Given the description of an element on the screen output the (x, y) to click on. 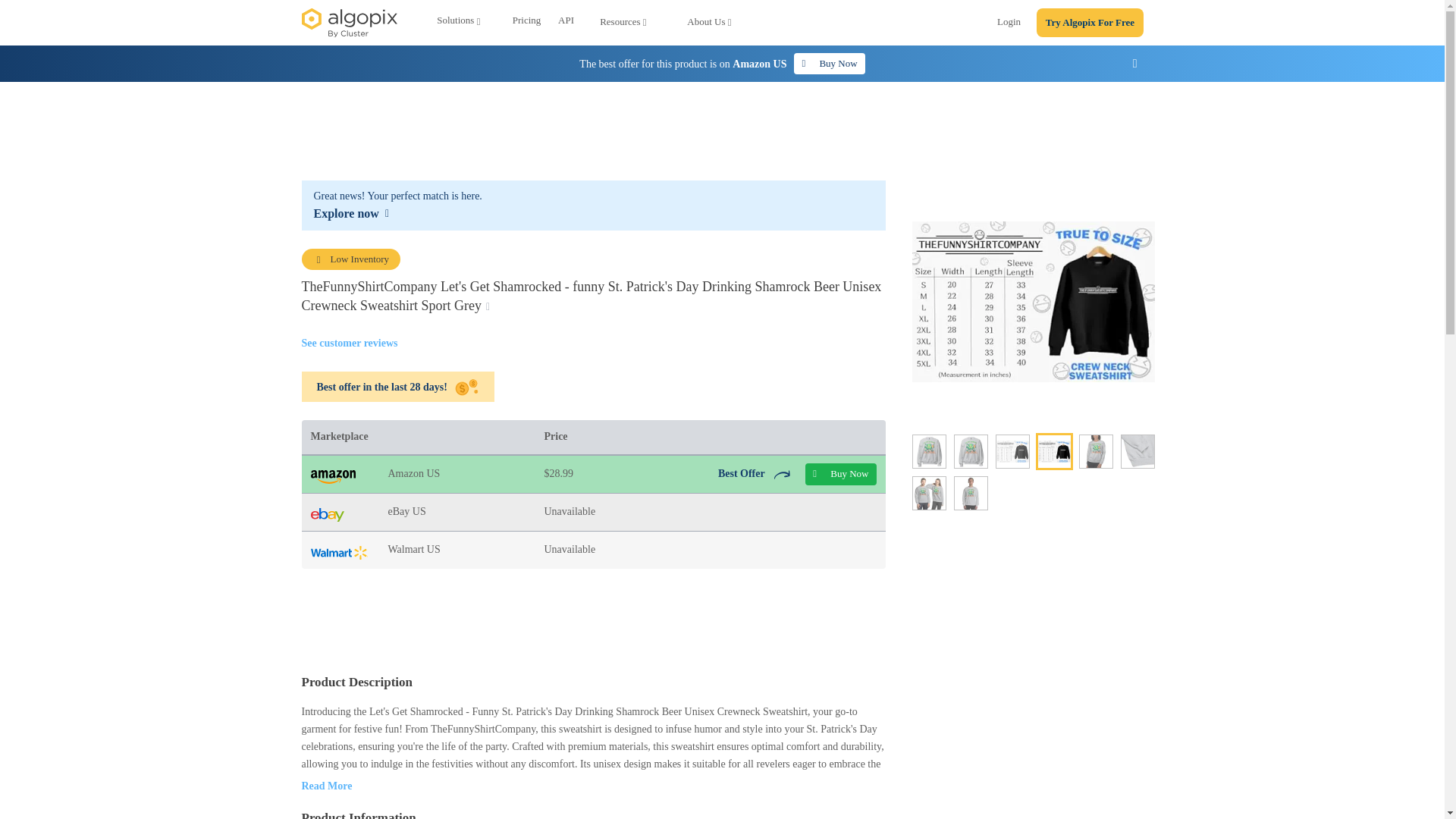
Advertisement (593, 621)
Buy Now (828, 64)
Login (1008, 24)
See customer reviews (349, 342)
Advertisement (722, 131)
Pricing (525, 22)
Buy Now (840, 474)
API (566, 22)
Try Algopix For Free (1089, 22)
